Given the description of an element on the screen output the (x, y) to click on. 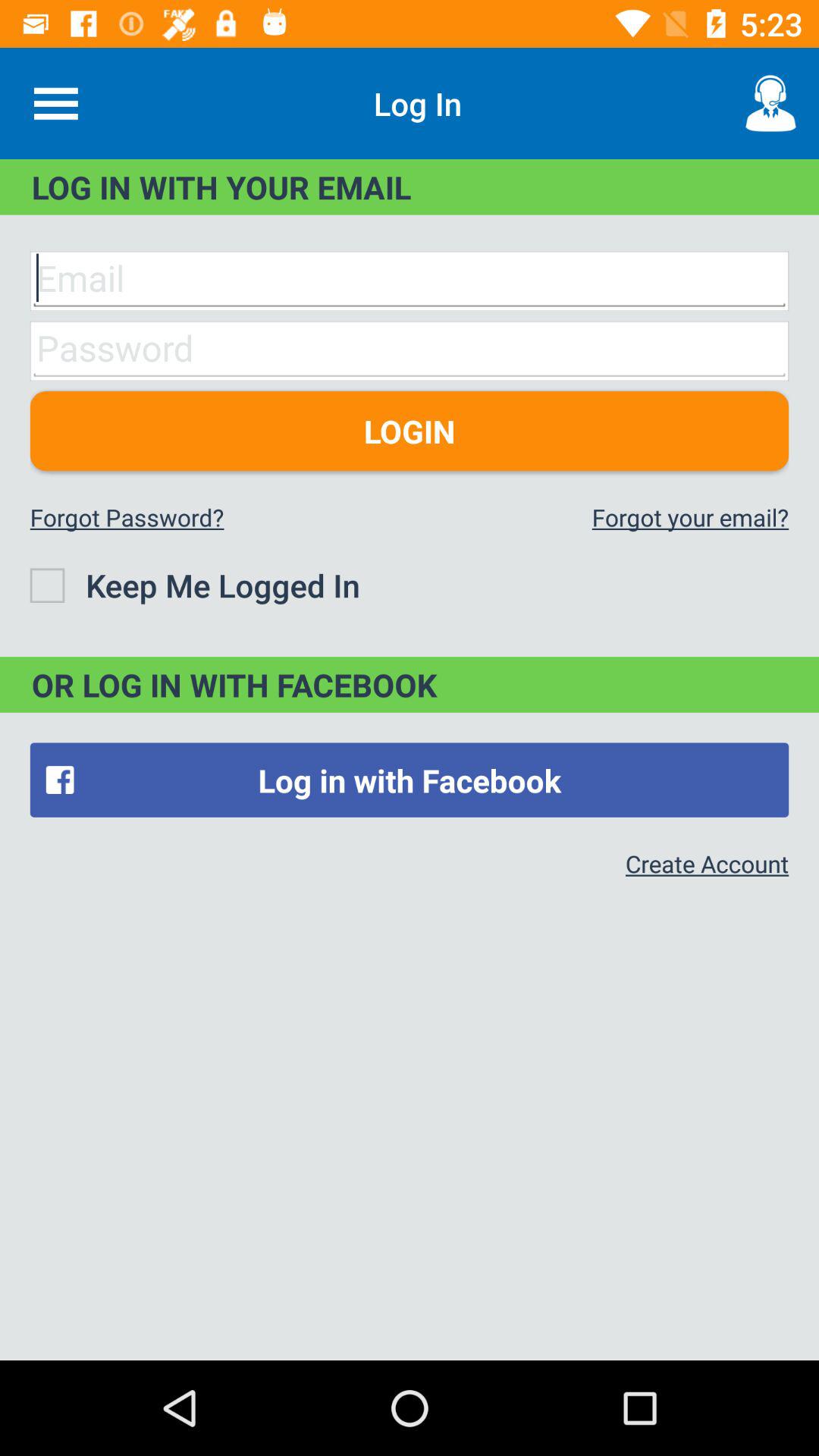
scroll to the create account item (706, 863)
